Given the description of an element on the screen output the (x, y) to click on. 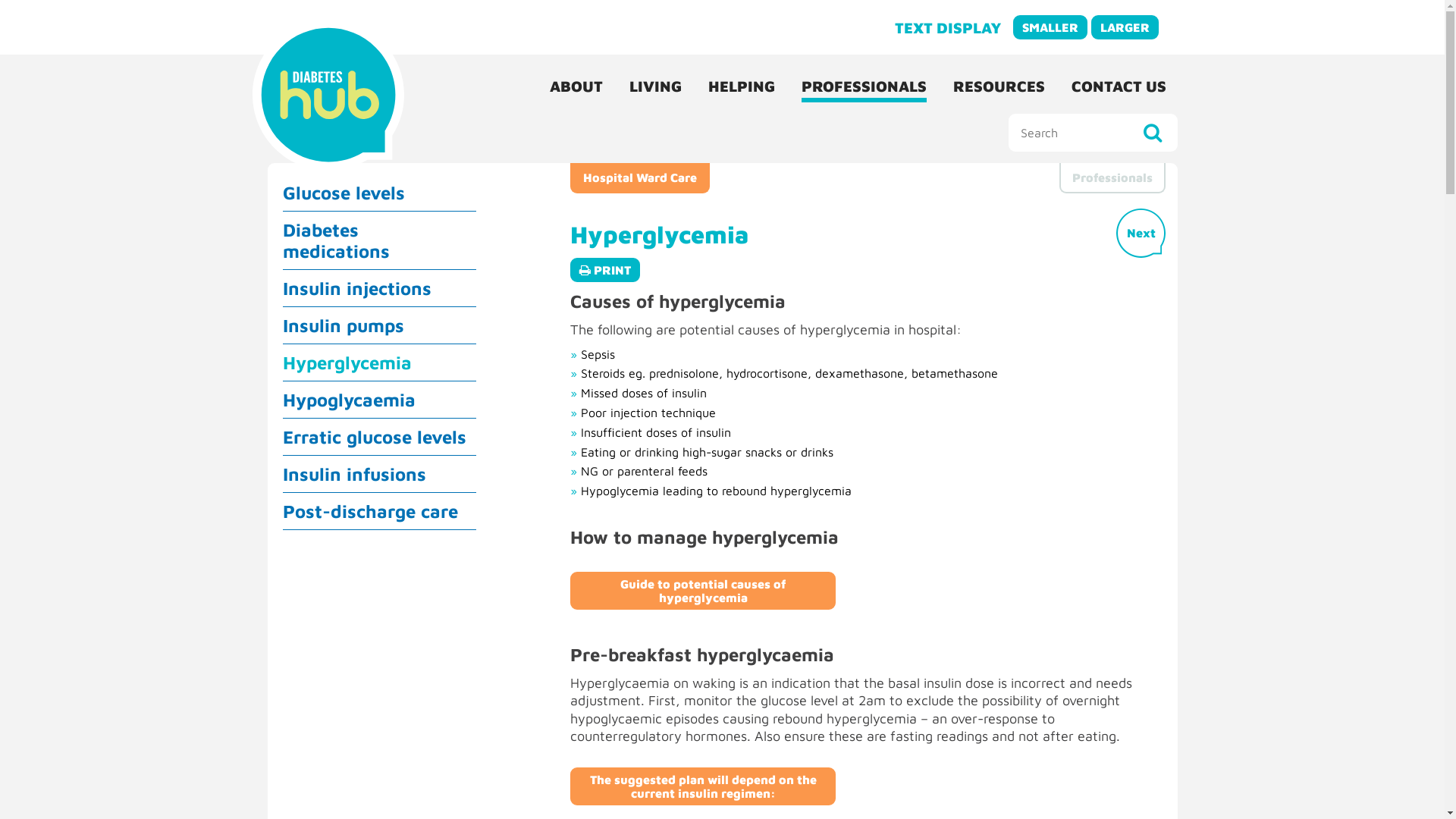
Professionals Element type: text (1112, 178)
RESOURCES Element type: text (998, 85)
CONTACT US Element type: text (1118, 85)
HELPING Element type: text (740, 85)
Insulin injections Element type: text (378, 287)
Erratic glucose levels Element type: text (378, 436)
ABOUT Element type: text (576, 85)
PRINT Element type: text (605, 269)
Guide to potential causes of hyperglycemia Element type: text (702, 590)
LARGER Element type: text (1123, 27)
Insulin infusions Element type: text (378, 473)
SMALLER Element type: text (1050, 27)
LIVING Element type: text (654, 85)
Post-discharge care Element type: text (378, 510)
Insulin pumps Element type: text (378, 325)
Diabetes medications Element type: text (378, 240)
Glucose levels Element type: text (378, 192)
Hyperglycemia Element type: text (378, 362)
Hypoglycaemia Element type: text (378, 399)
PROFESSIONALS Element type: text (864, 85)
Hospital Ward Care Element type: text (639, 178)
